Given the description of an element on the screen output the (x, y) to click on. 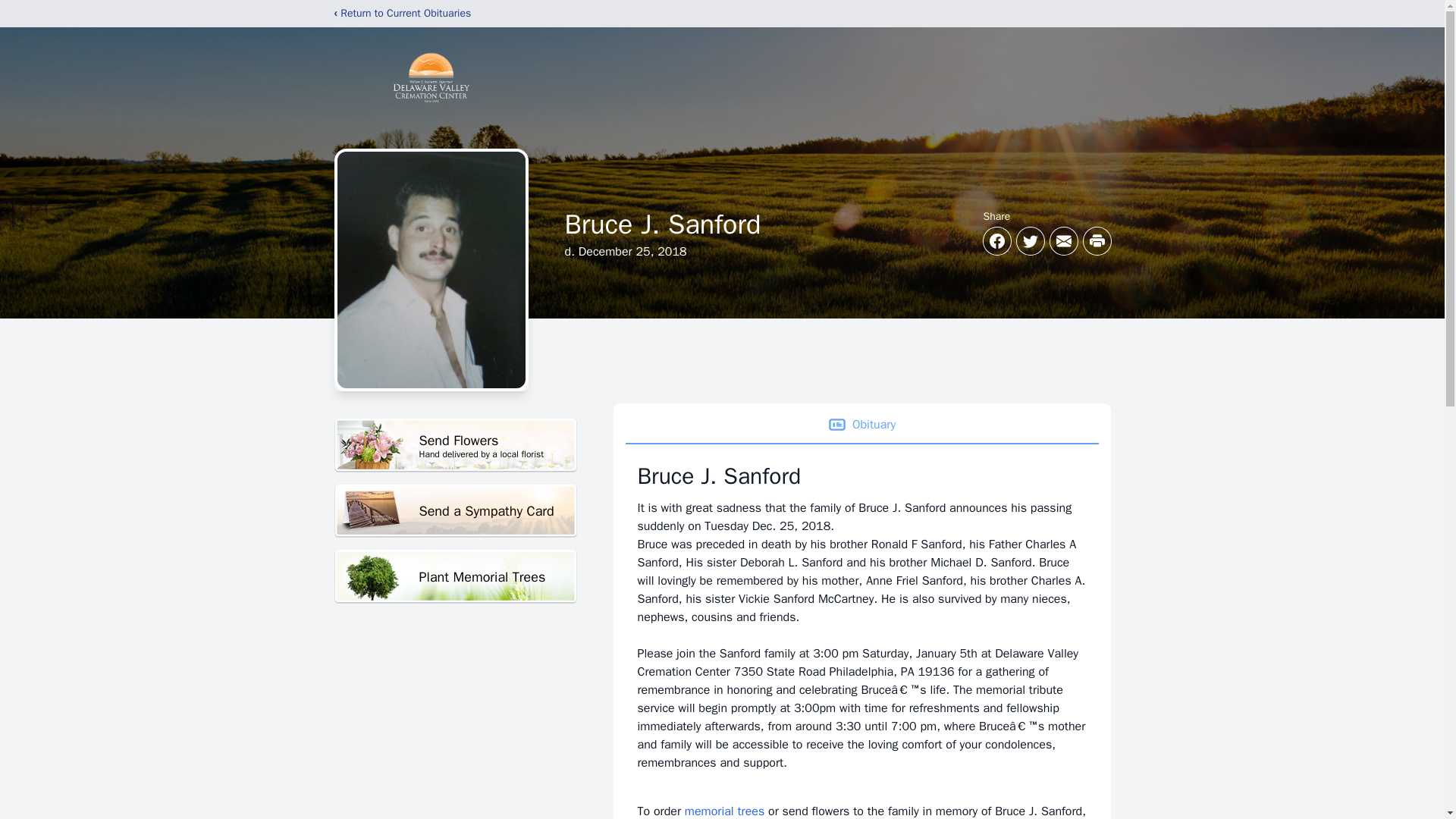
Send a Sympathy Card (454, 511)
memorial trees (724, 811)
Plant Memorial Trees (454, 445)
Obituary (454, 576)
